Given the description of an element on the screen output the (x, y) to click on. 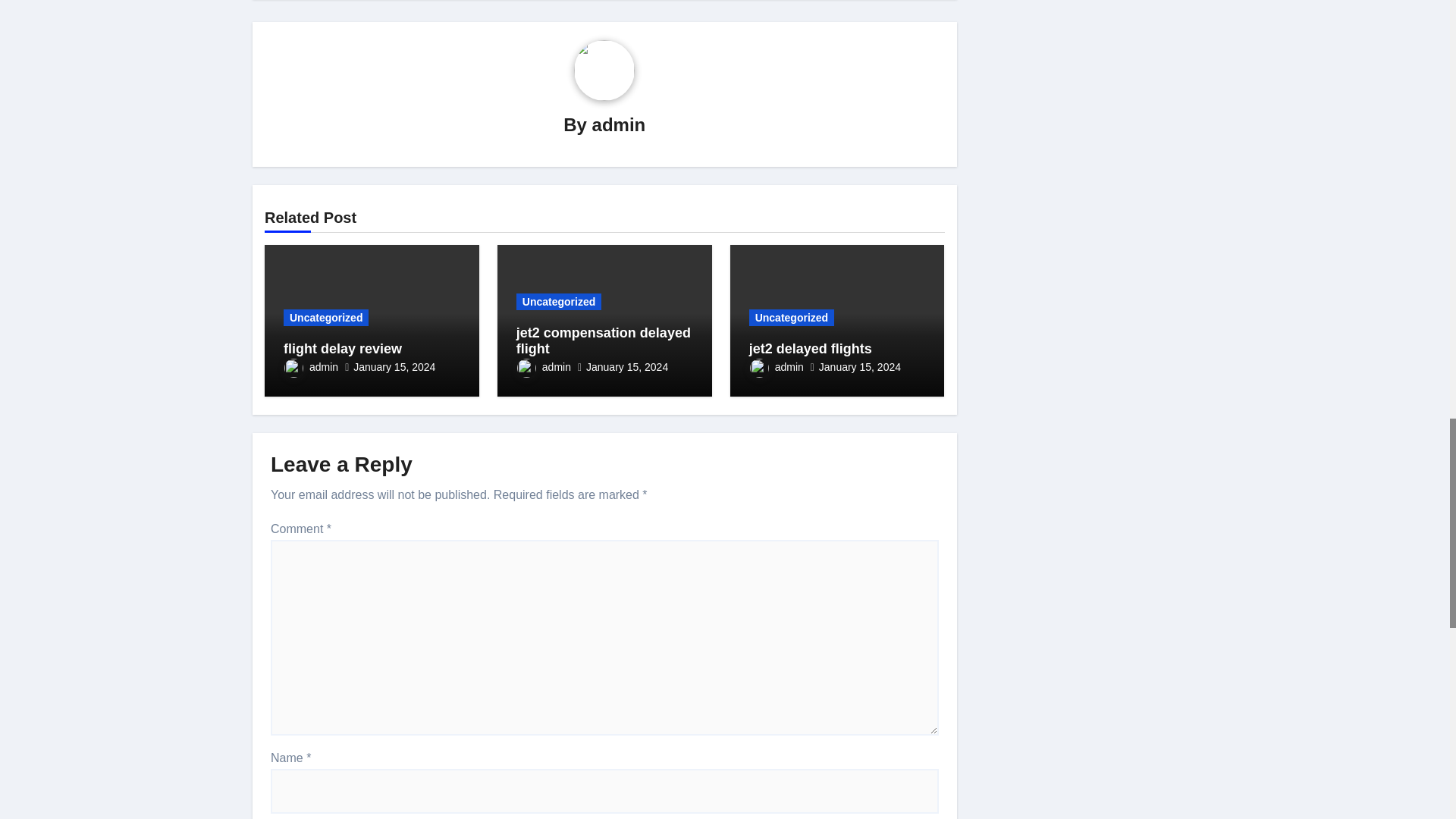
Permalink to: jet2 compensation delayed flight (603, 341)
Uncategorized (325, 317)
Permalink to: flight delay review (342, 348)
admin (310, 367)
Permalink to: jet2 delayed flights (810, 348)
flight delay review (342, 348)
January 15, 2024 (394, 367)
admin (619, 124)
